Given the description of an element on the screen output the (x, y) to click on. 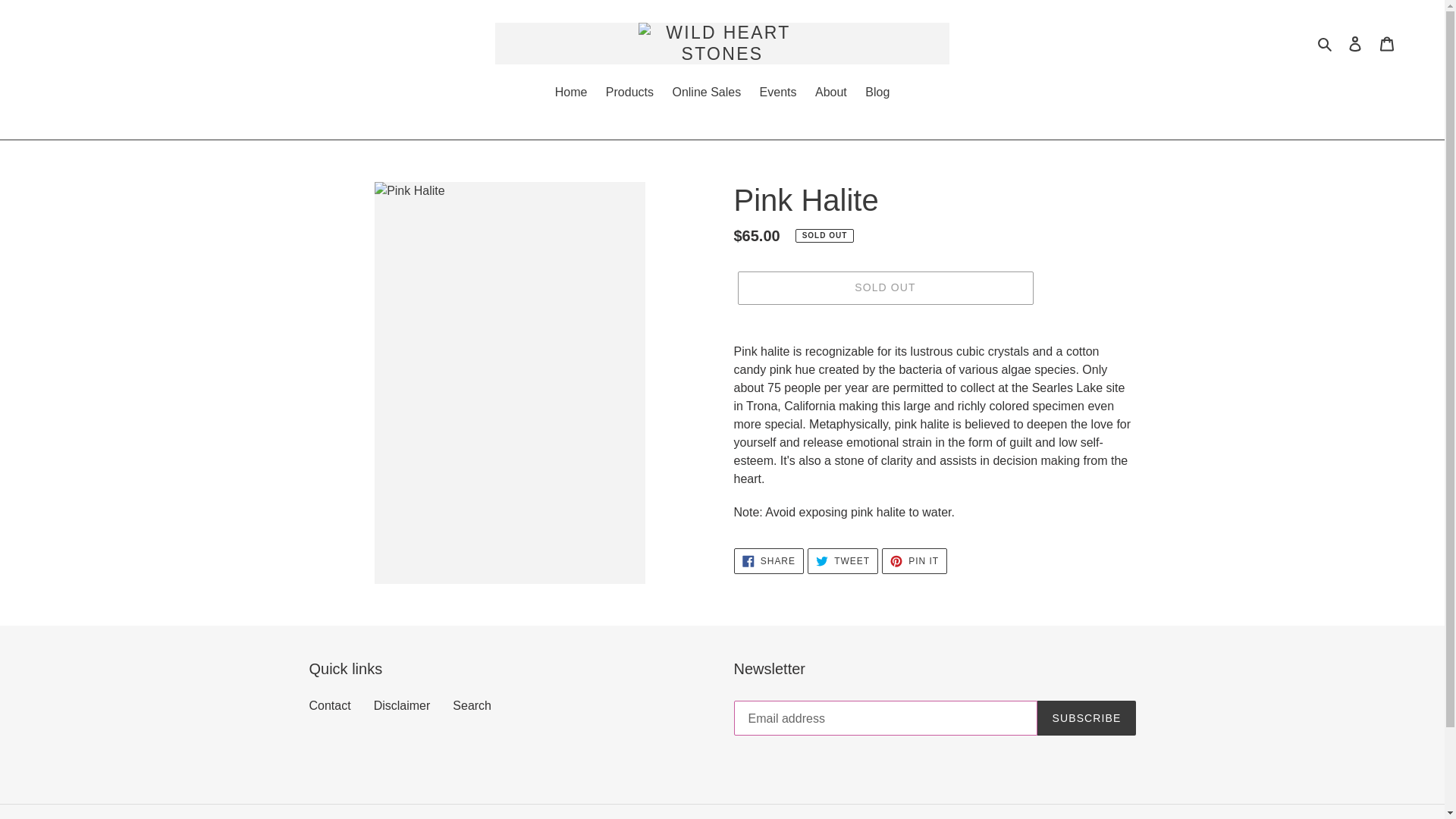
Disclaimer (402, 705)
Log in (1355, 43)
Events (778, 93)
SUBSCRIBE (768, 560)
Home (1085, 718)
About (571, 93)
Blog (831, 93)
Online Sales (876, 93)
Search (842, 560)
Cart (705, 93)
Contact (914, 560)
SOLD OUT (472, 705)
